Given the description of an element on the screen output the (x, y) to click on. 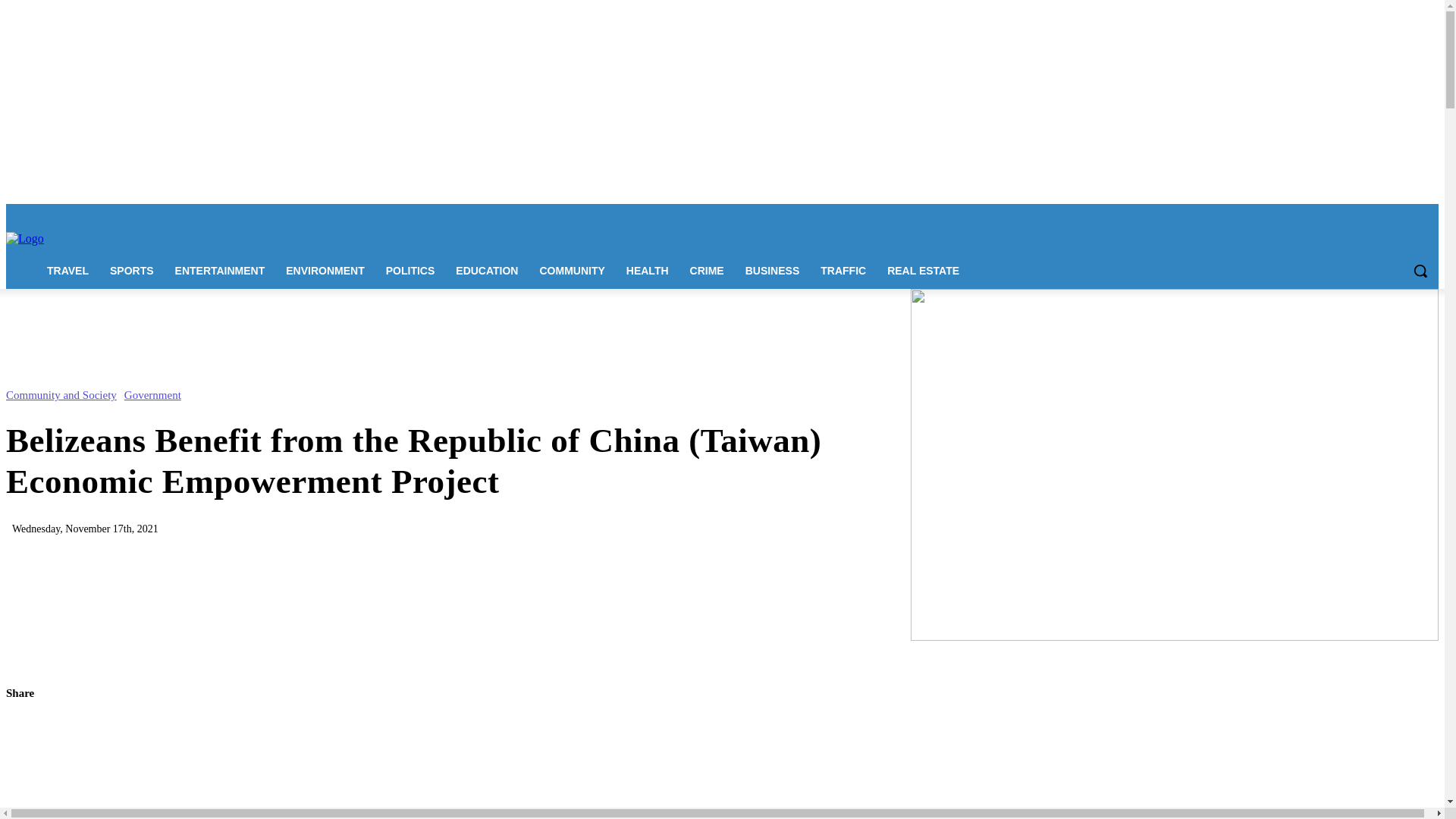
Facebook (1324, 214)
Contact Us (228, 214)
REAL ESTATE (922, 270)
EDUCATION (486, 270)
Liquor Licenses (387, 214)
Classifieds (448, 214)
About Us (178, 214)
Pinterest (1387, 214)
TRAFFIC (842, 270)
SPORTS (131, 270)
POLITICS (410, 270)
Twitter (1407, 214)
COMMUNITY (571, 270)
Advertising information (303, 214)
CRIME (707, 270)
